Given the description of an element on the screen output the (x, y) to click on. 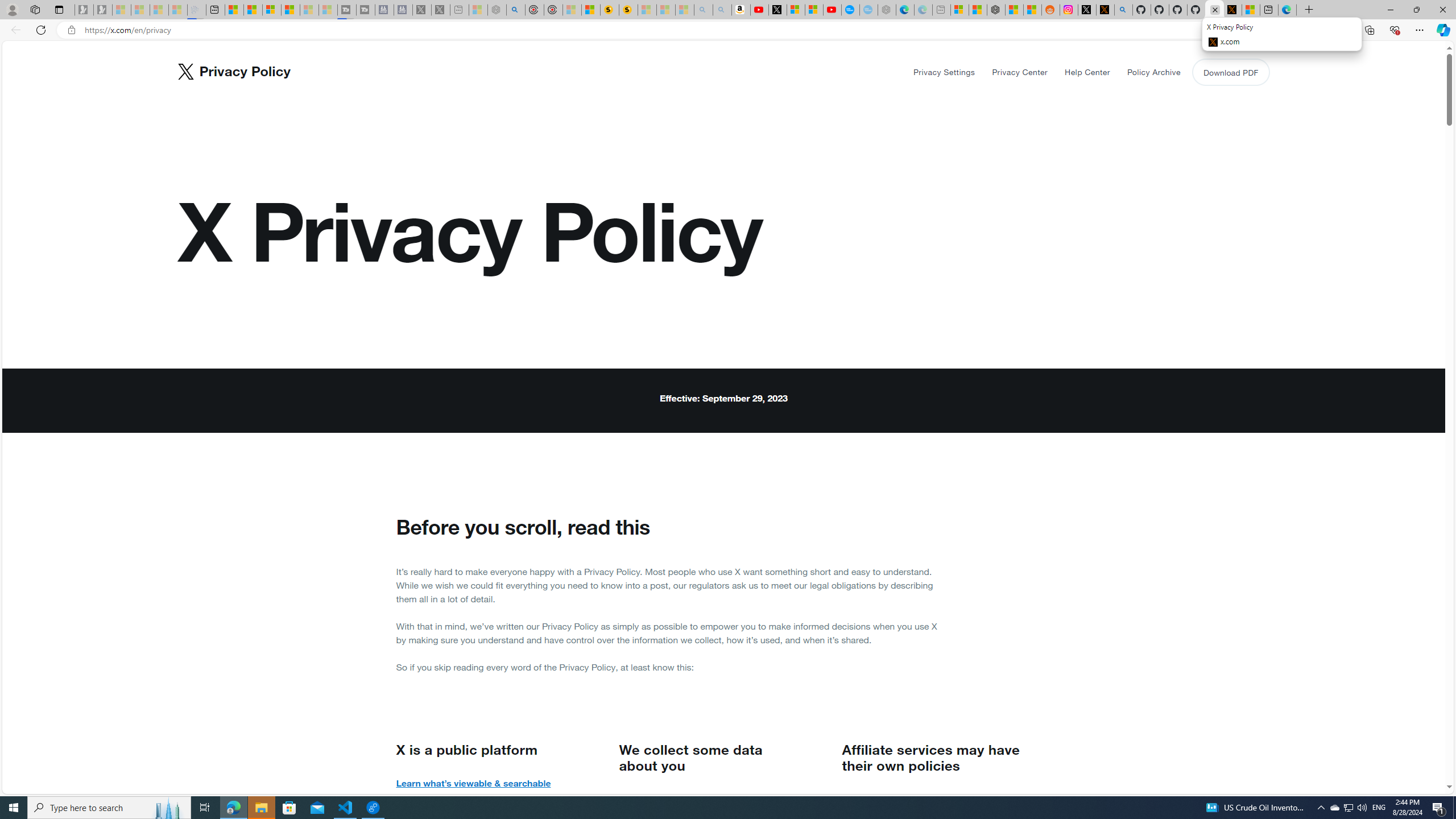
Wildlife - MSN - Sleeping (478, 9)
Privacy Settings (944, 72)
Help Center (1087, 72)
Overview (271, 9)
Microsoft Start - Sleeping (309, 9)
Enter Immersive Reader (F9) (1291, 29)
